Given the description of an element on the screen output the (x, y) to click on. 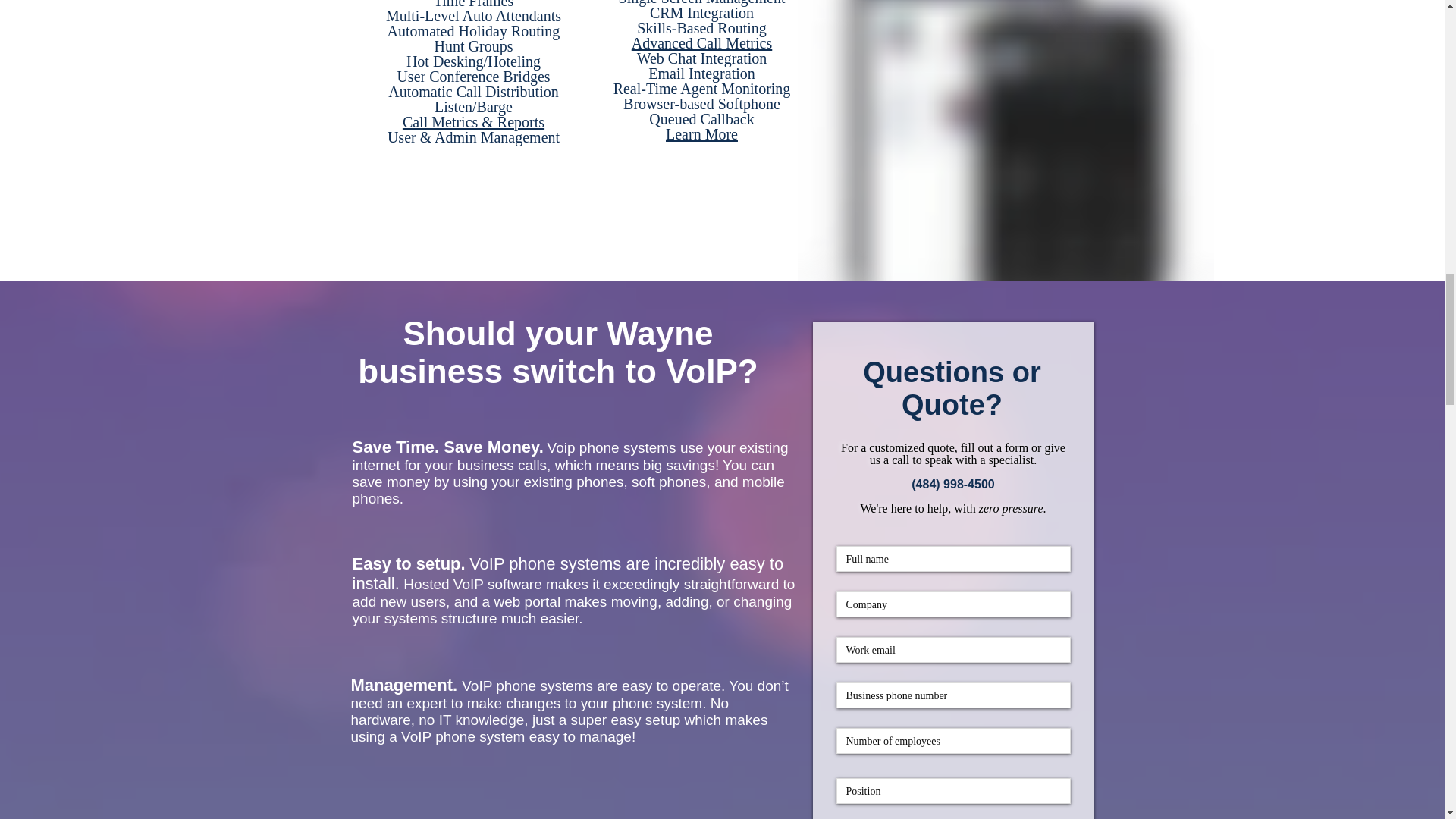
Learn More (701, 134)
Advanced Call Metrics (702, 43)
